Given the description of an element on the screen output the (x, y) to click on. 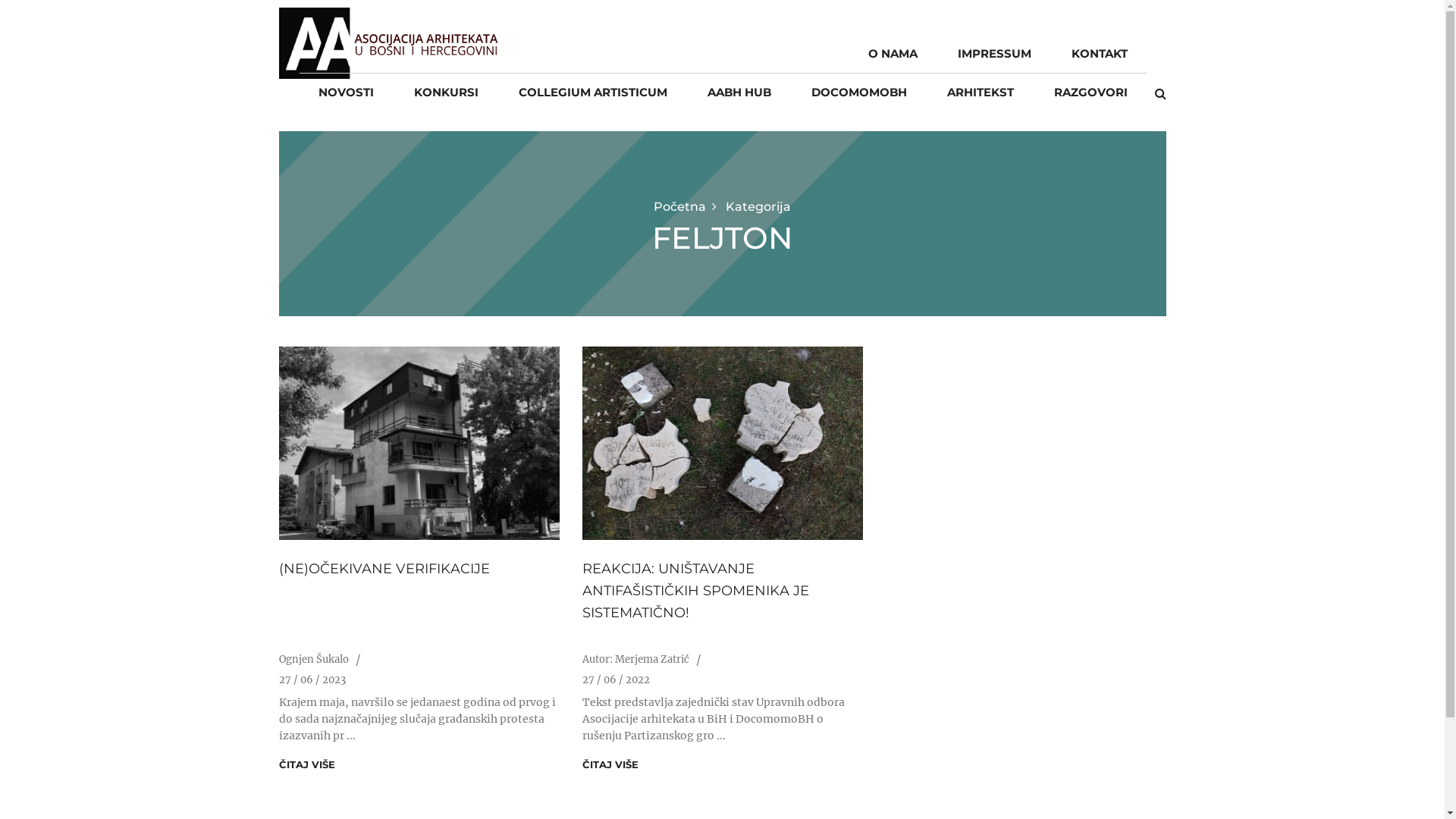
RAZGOVORI Element type: text (1090, 92)
COLLEGIUM ARTISTICUM Element type: text (592, 92)
AABH HUB Element type: text (738, 92)
KONKURSI Element type: text (446, 92)
KONTAKT Element type: text (1098, 53)
IMPRESSUM Element type: text (993, 53)
ARHITEKST Element type: text (979, 92)
NOVOSTI Element type: text (345, 92)
DOCOMOMOBH Element type: text (858, 92)
O NAMA Element type: text (891, 53)
